Given the description of an element on the screen output the (x, y) to click on. 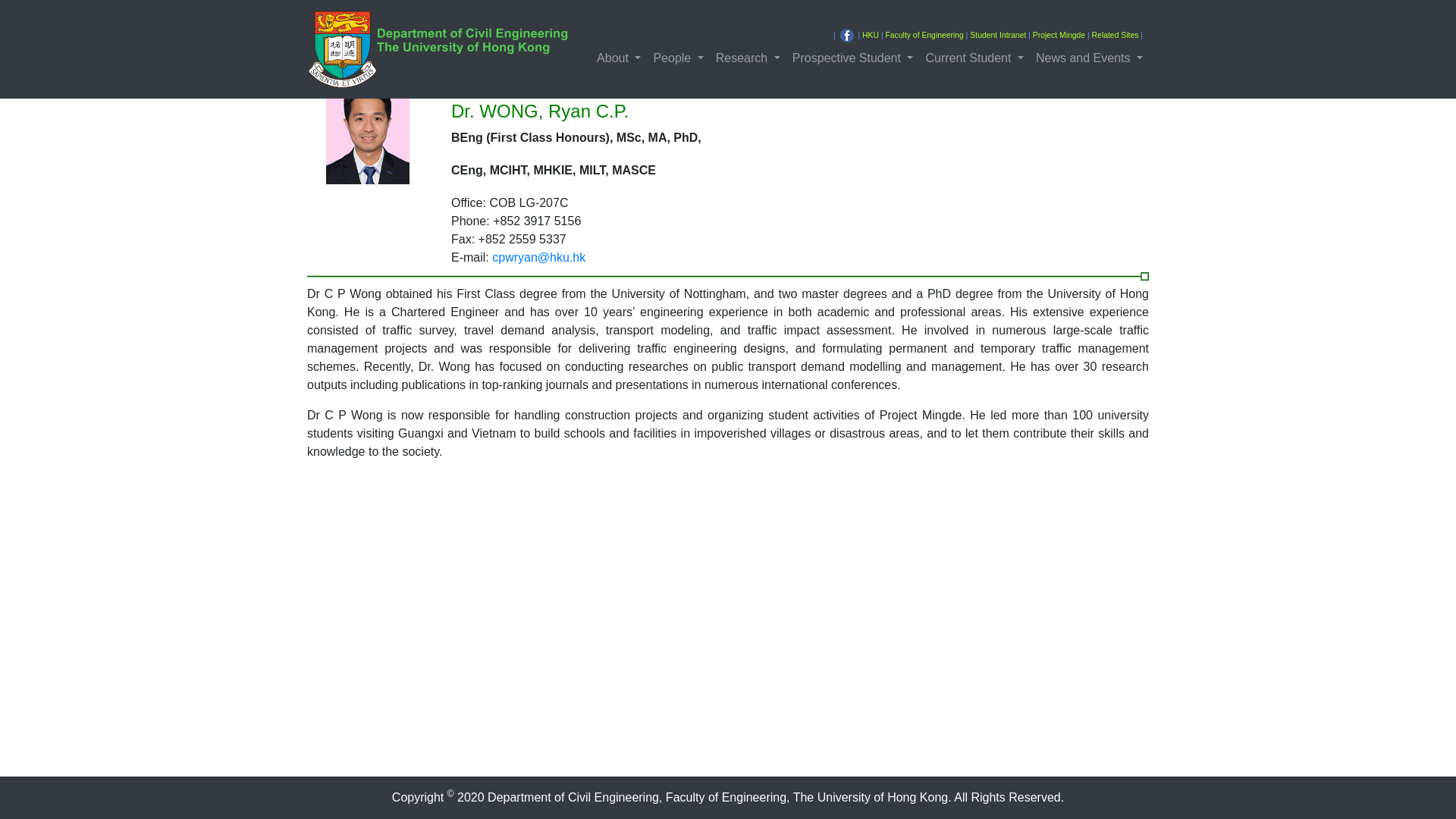
Student Intranet (997, 35)
Research (748, 58)
People (677, 58)
Faculty of Engineering (923, 35)
Prospective Student (853, 58)
News and Events (1088, 58)
HKU (870, 35)
Project Mingde (1058, 35)
Current Student (973, 58)
About (618, 58)
Related Sites (1115, 35)
